Given the description of an element on the screen output the (x, y) to click on. 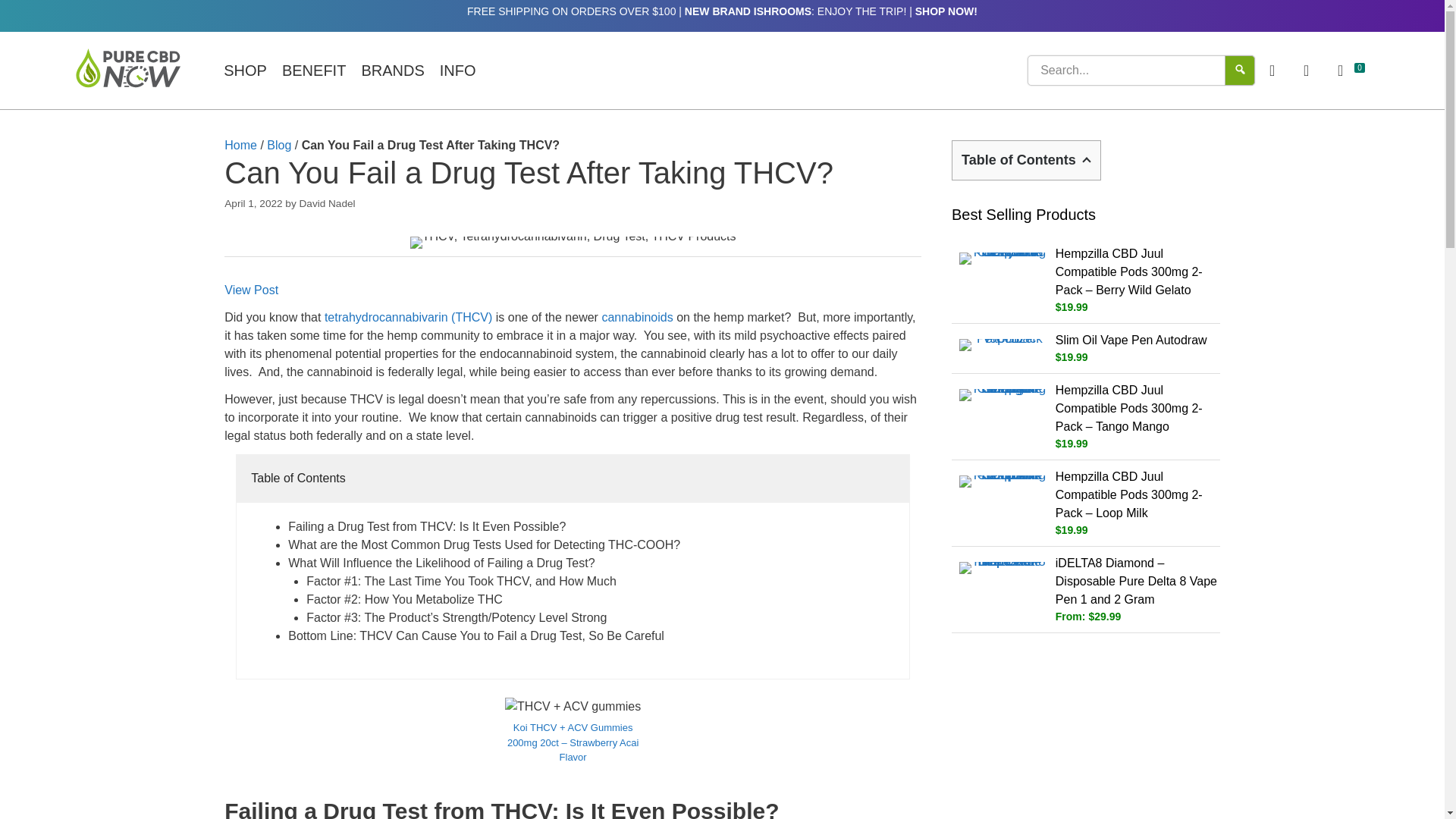
SHOP (245, 70)
NEW BRAND ISHROOMS (747, 10)
SHOP NOW! (945, 10)
